Given the description of an element on the screen output the (x, y) to click on. 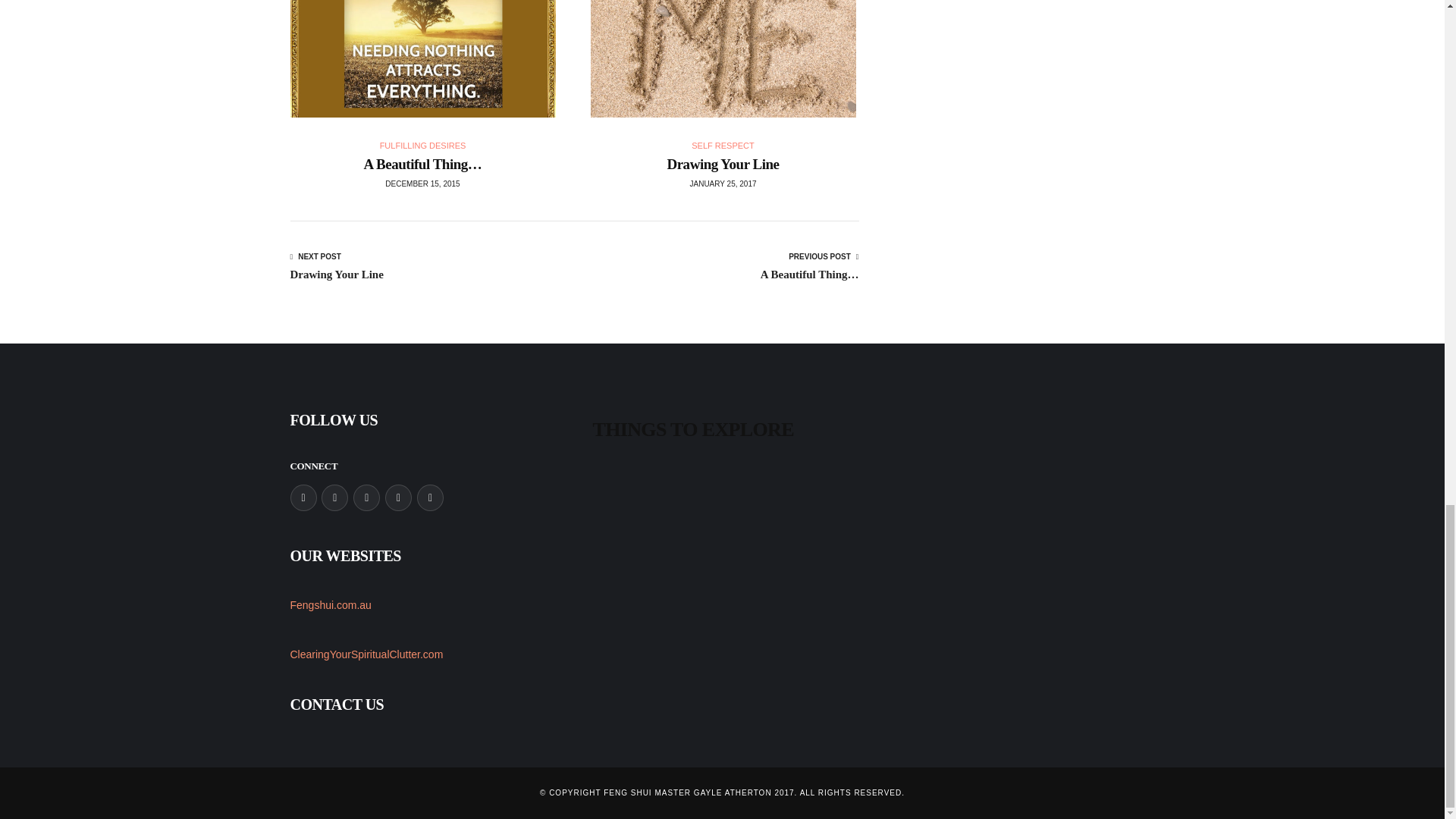
FULFILLING DESIRES (335, 266)
Drawing Your Line (422, 144)
SELF RESPECT (722, 163)
